Given the description of an element on the screen output the (x, y) to click on. 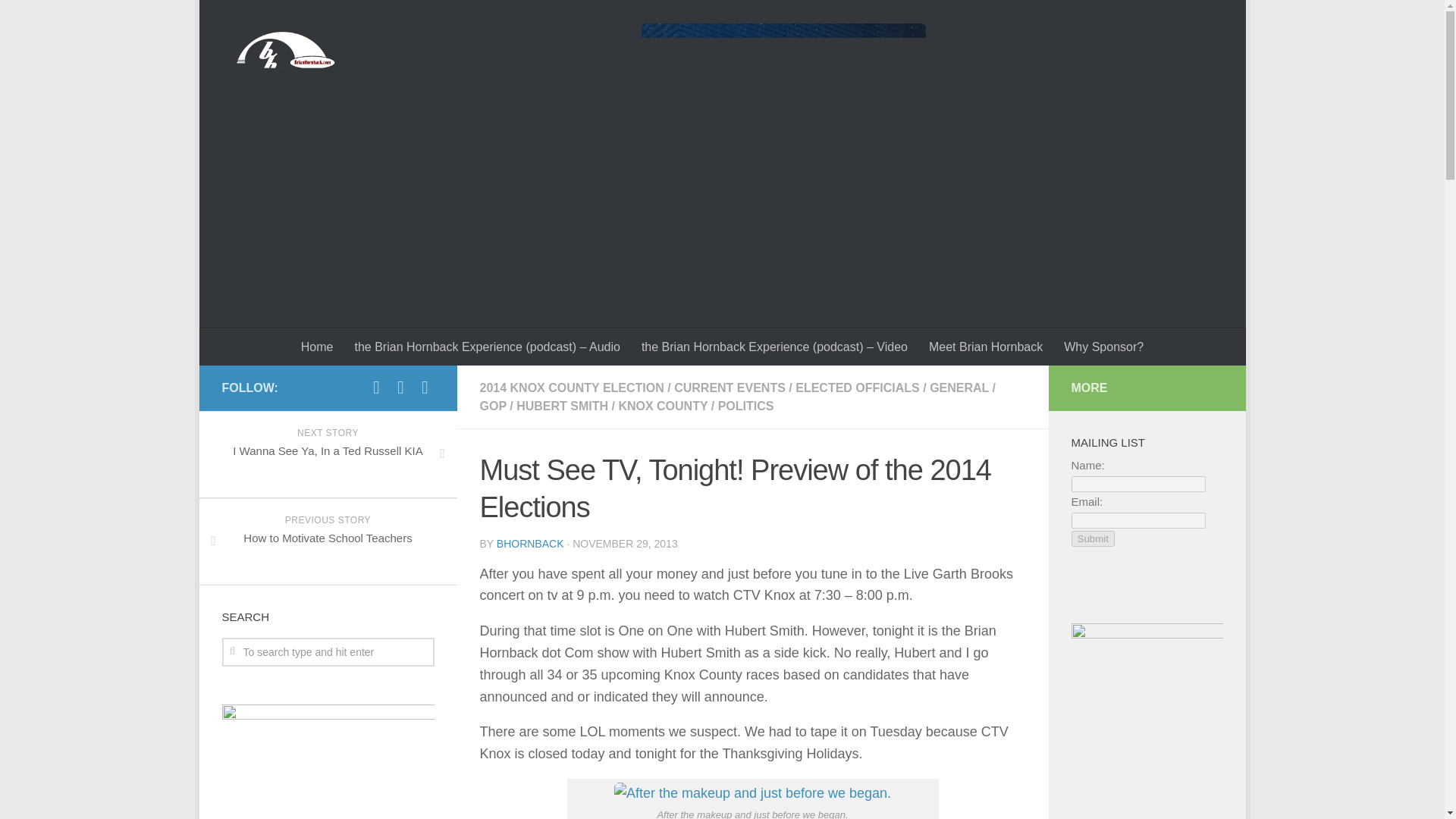
Meet Brian Hornback (327, 454)
Name (985, 346)
Email (1137, 483)
CURRENT EVENTS (327, 541)
BHORNBACK (1137, 520)
Why Sponsor? (730, 387)
GOP (530, 543)
ELECTED OFFICIALS (1103, 346)
